Given the description of an element on the screen output the (x, y) to click on. 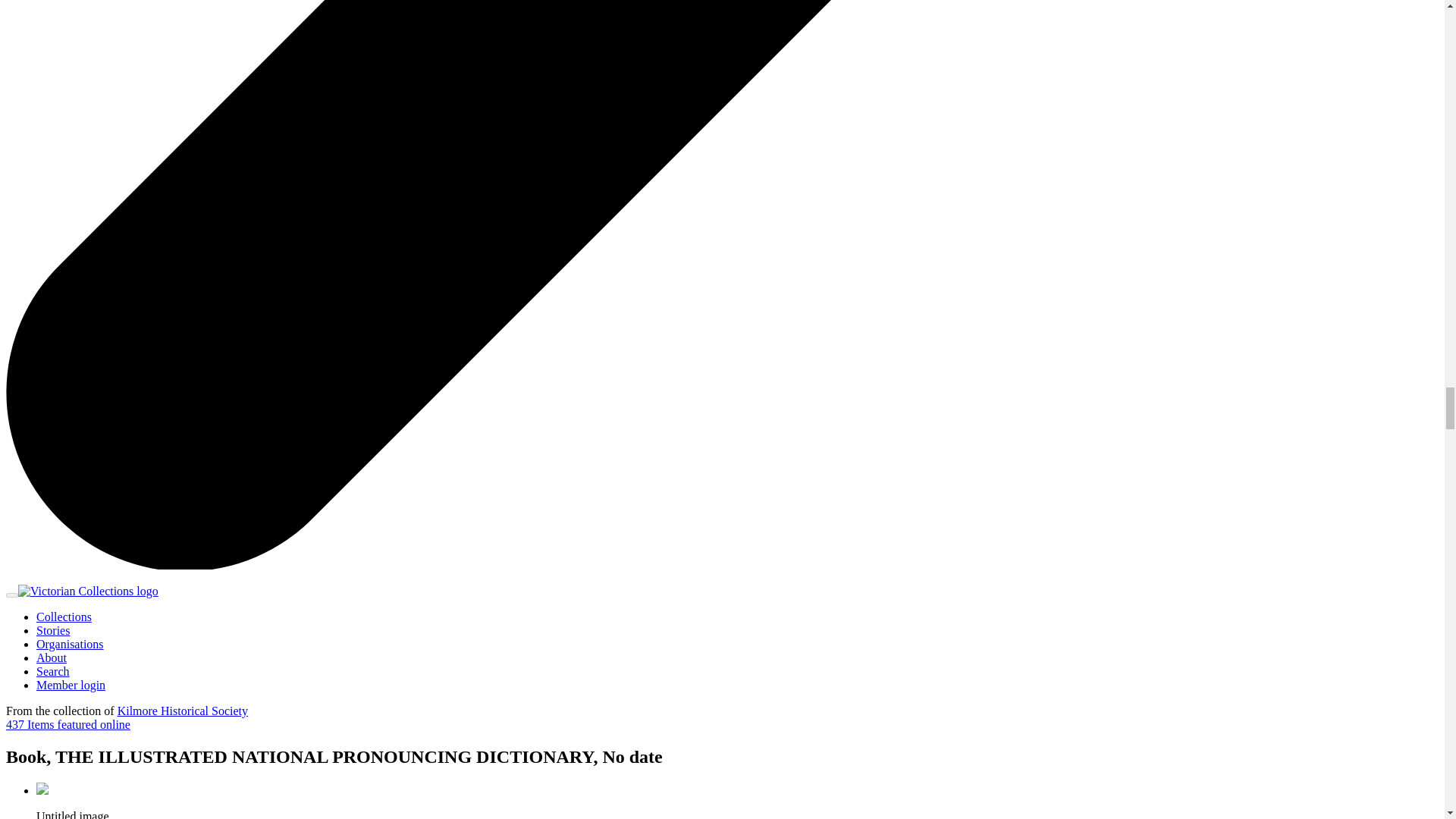
437 Items featured online (68, 724)
Stories (52, 630)
About (51, 657)
Organisations (69, 644)
Member login (70, 684)
Kilmore Historical Society (182, 710)
Collections (63, 616)
Search (52, 671)
